Given the description of an element on the screen output the (x, y) to click on. 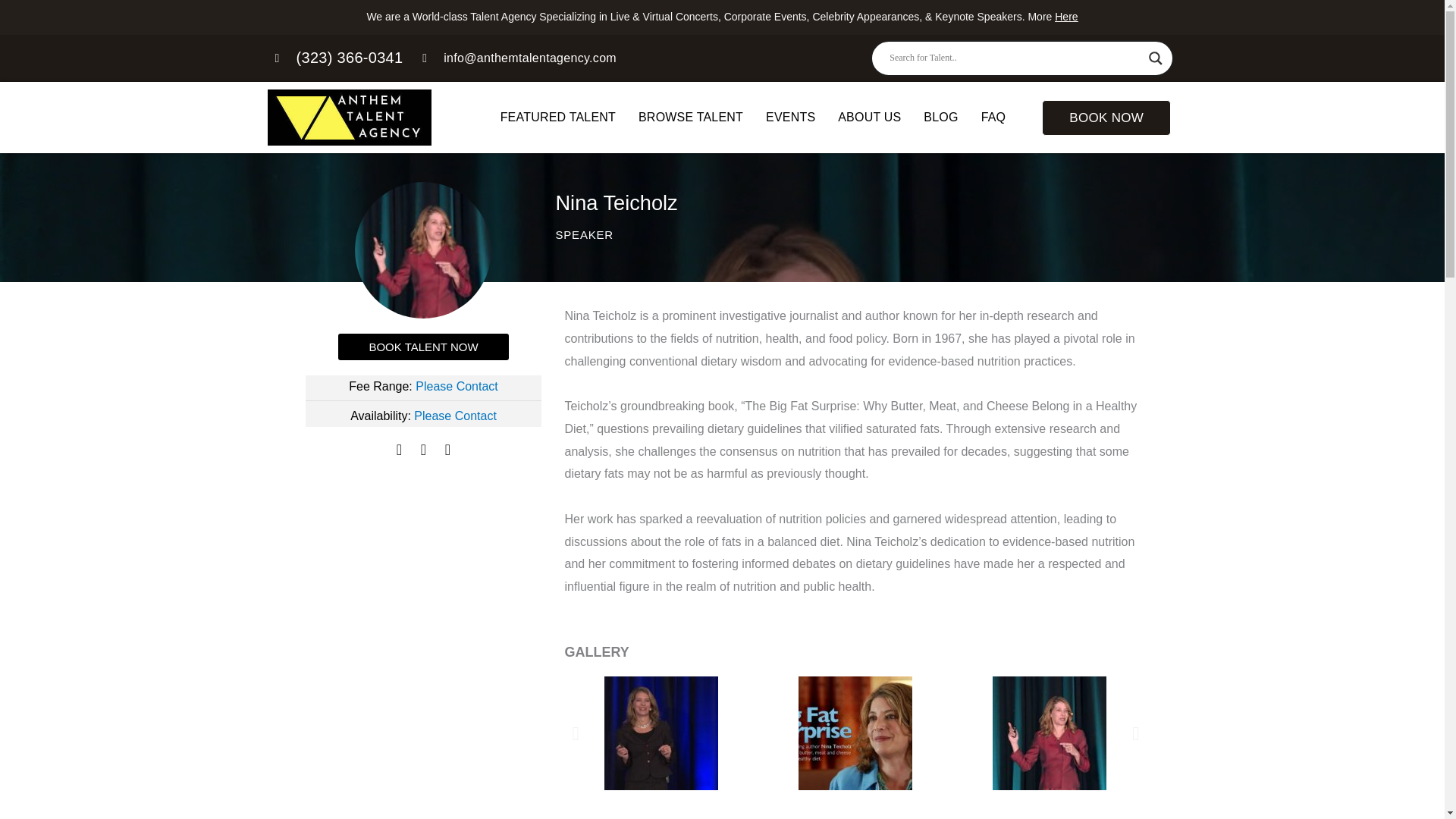
BLOG (940, 117)
EVENTS (790, 117)
FEATURED TALENT (557, 117)
ABOUT US (869, 117)
BROWSE TALENT (690, 117)
Here (1065, 16)
